Given the description of an element on the screen output the (x, y) to click on. 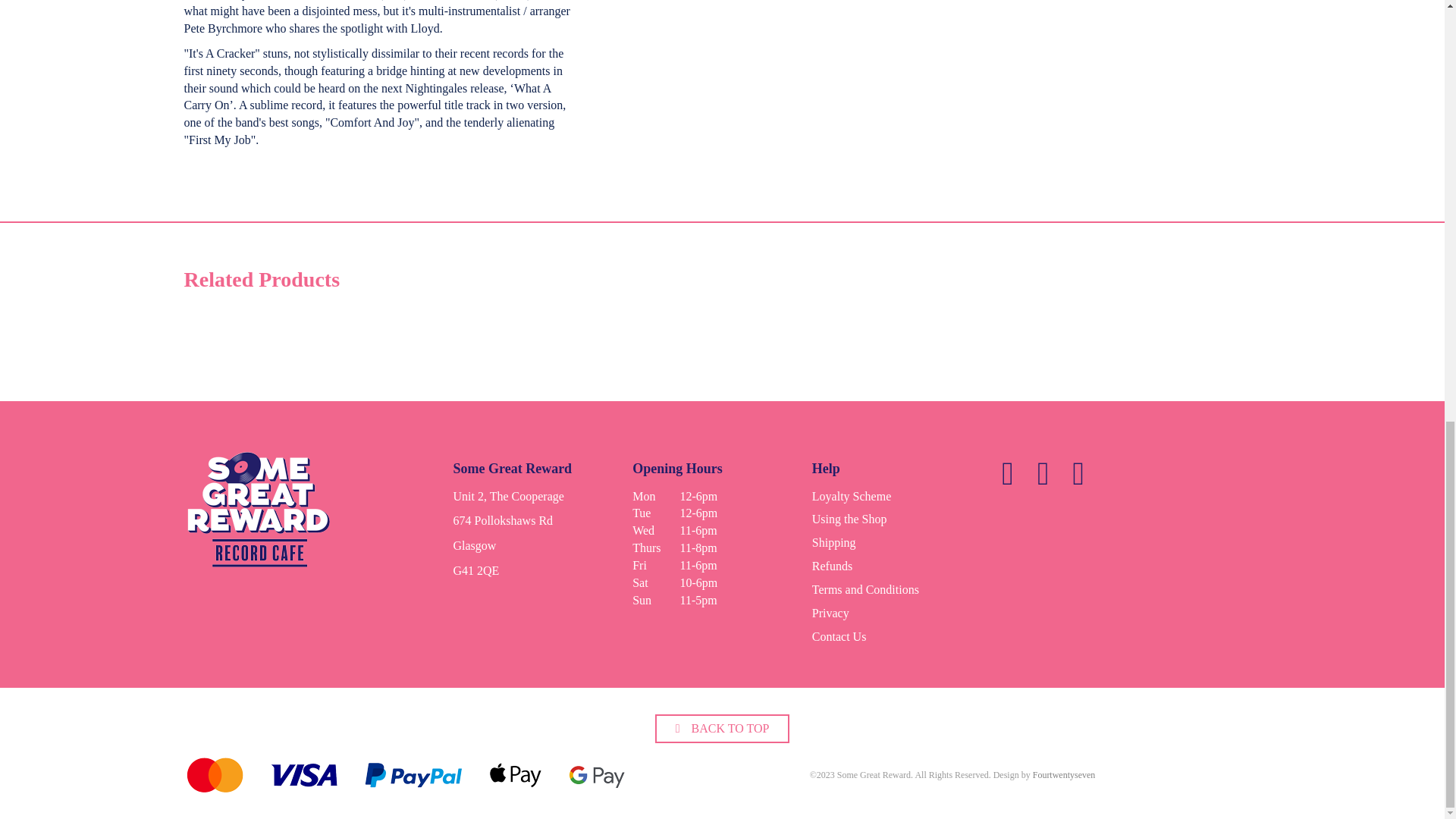
Some Great Reward (258, 514)
